Given the description of an element on the screen output the (x, y) to click on. 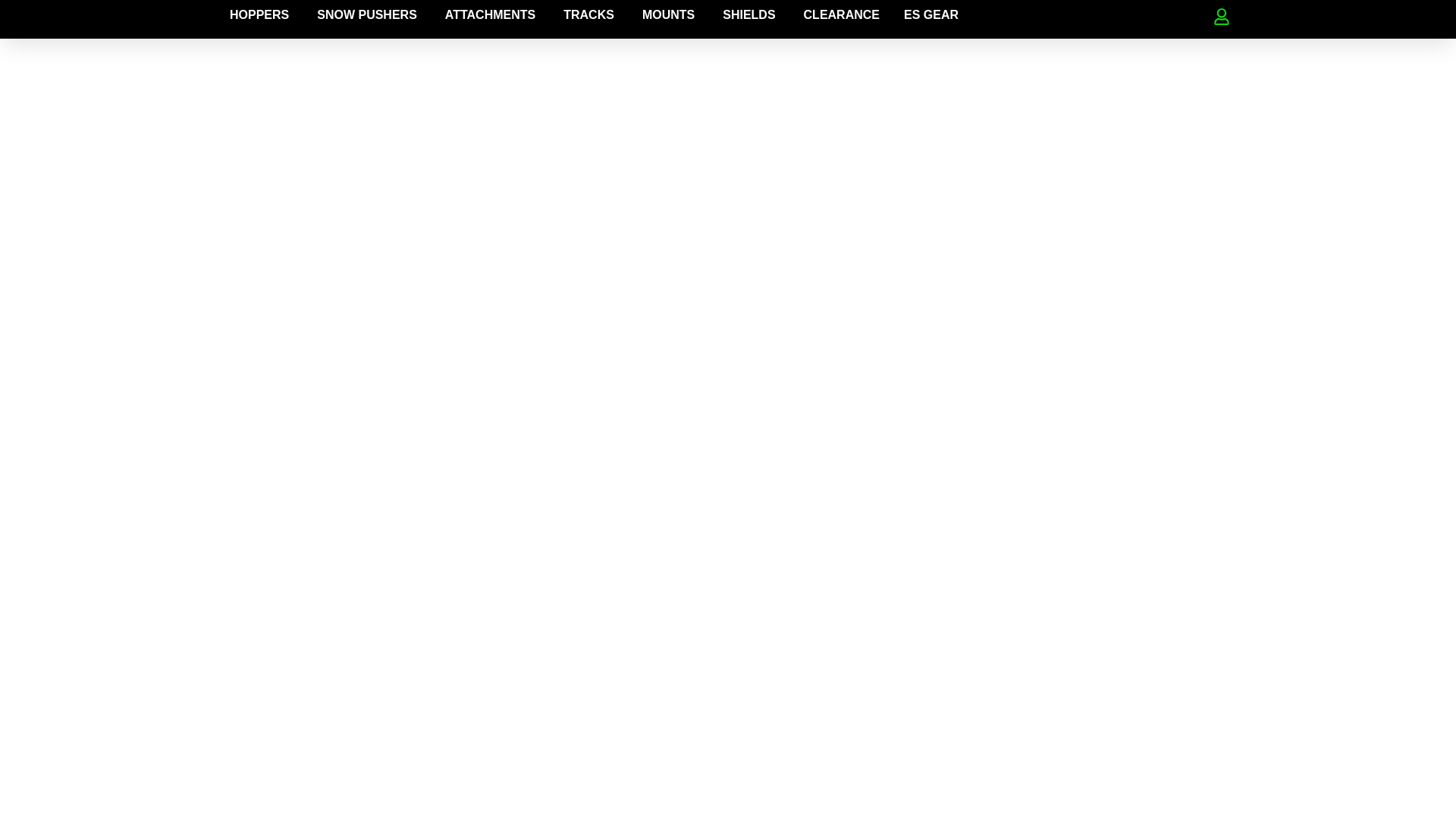
ATTACHMENTS (490, 14)
SNOW PUSHERS (366, 14)
HOPPERS (259, 14)
